Given the description of an element on the screen output the (x, y) to click on. 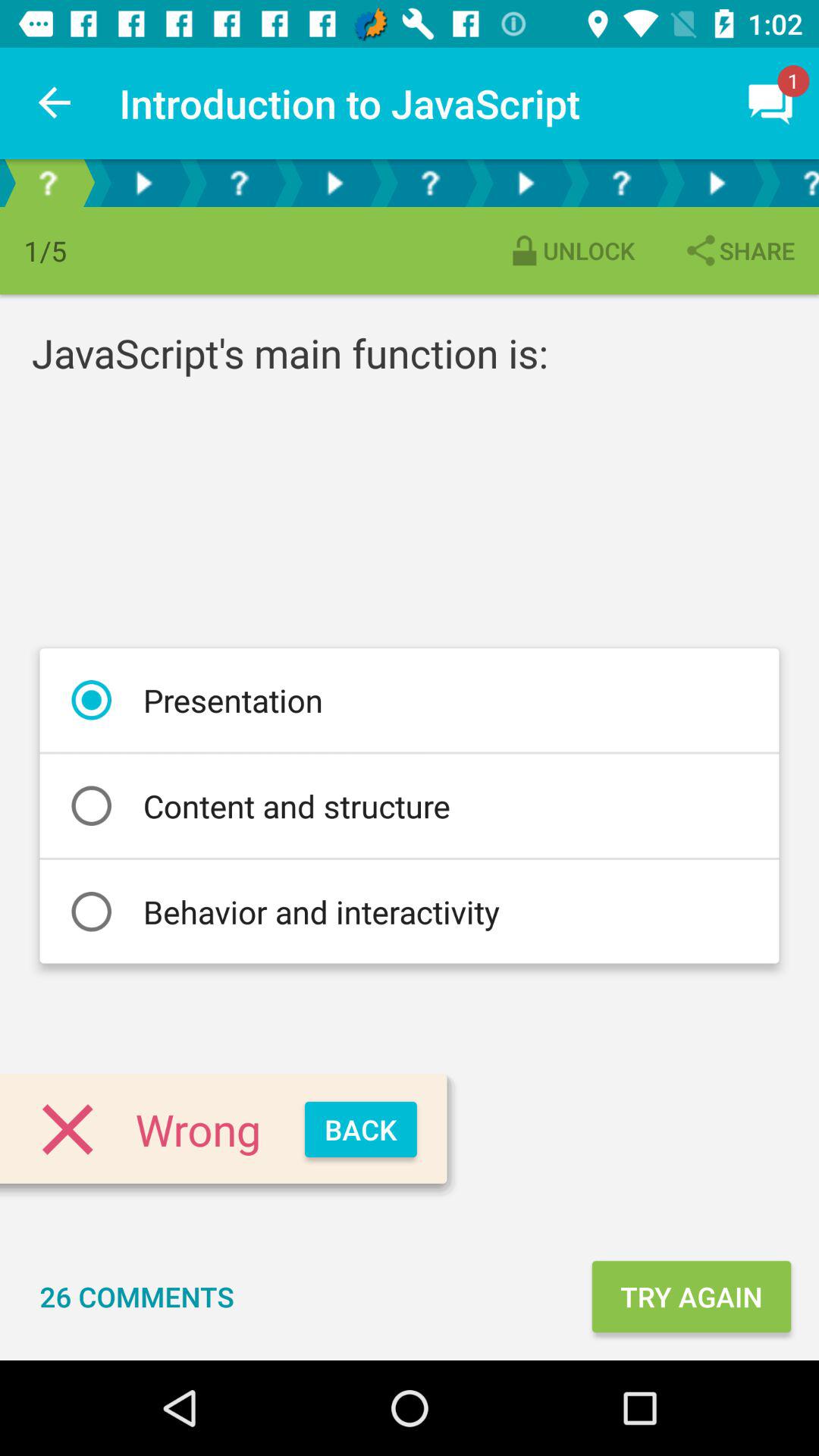
select step (143, 183)
